Given the description of an element on the screen output the (x, y) to click on. 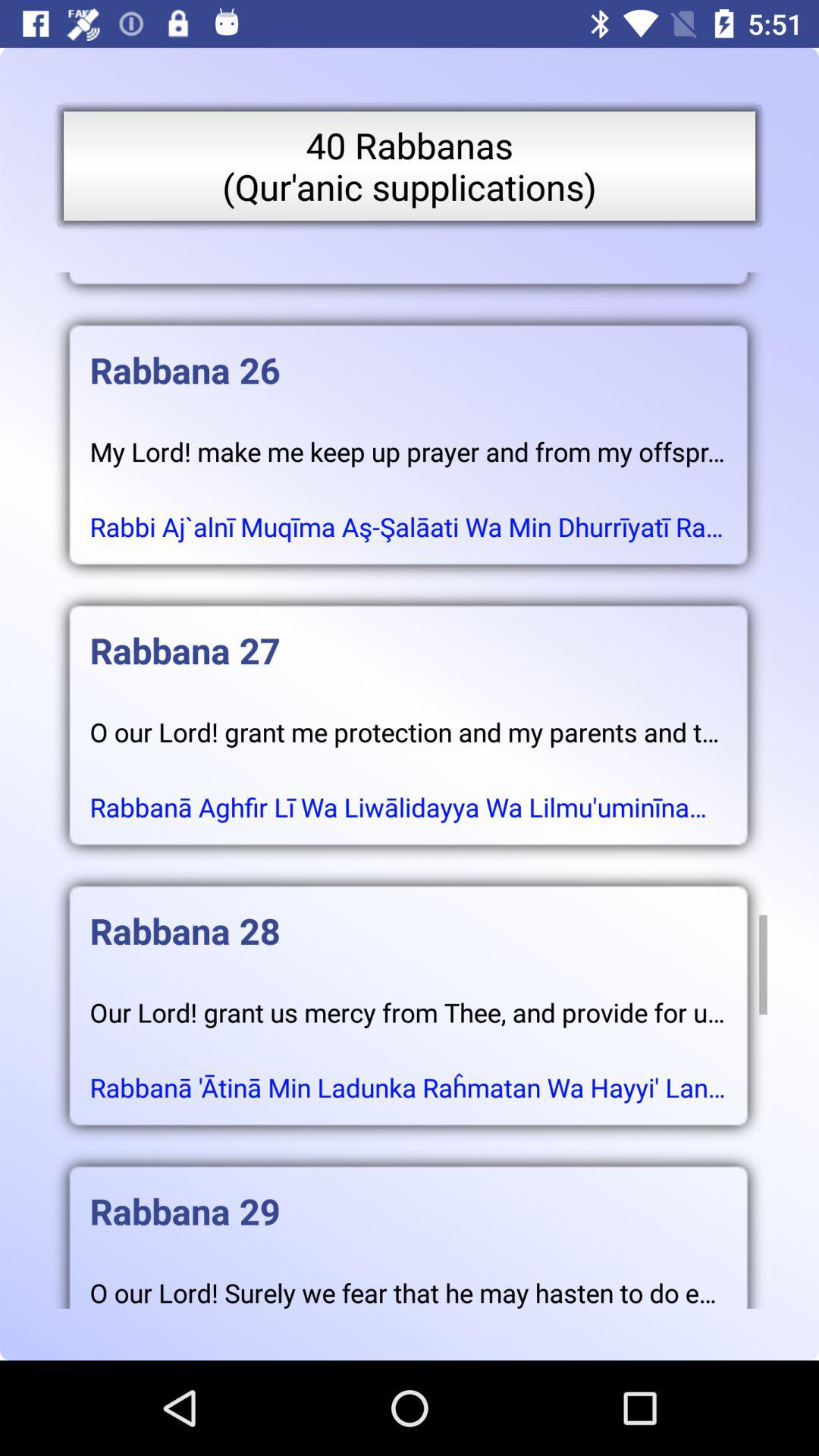
turn on the icon above o our lord icon (408, 1196)
